Given the description of an element on the screen output the (x, y) to click on. 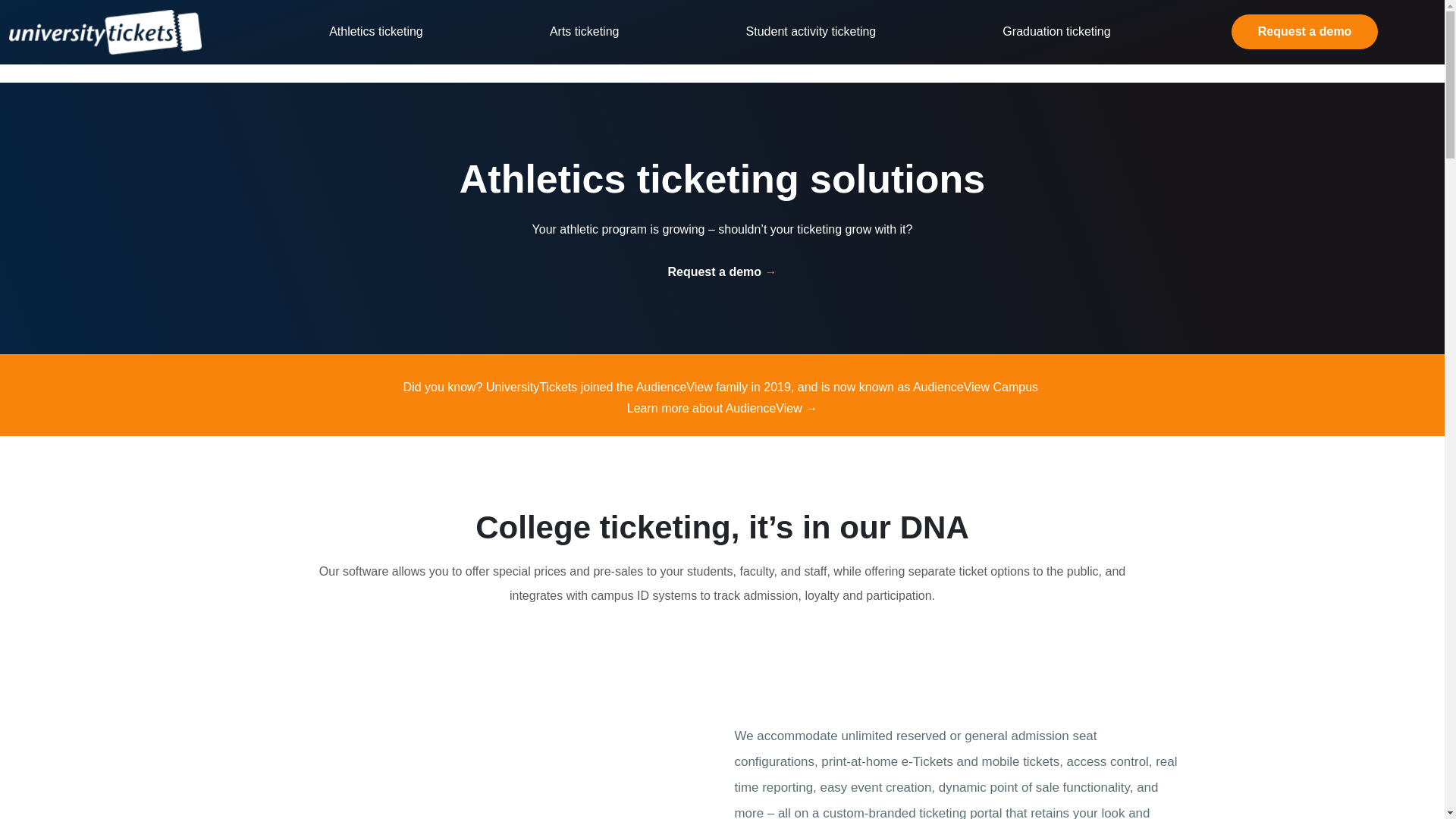
Request a demo (1304, 31)
Athletics, Powered by UniversityTickets (488, 771)
Student activity ticketing (810, 31)
Arts ticketing (584, 31)
Athletics ticketing (376, 31)
Graduation ticketing (1055, 31)
